Given the description of an element on the screen output the (x, y) to click on. 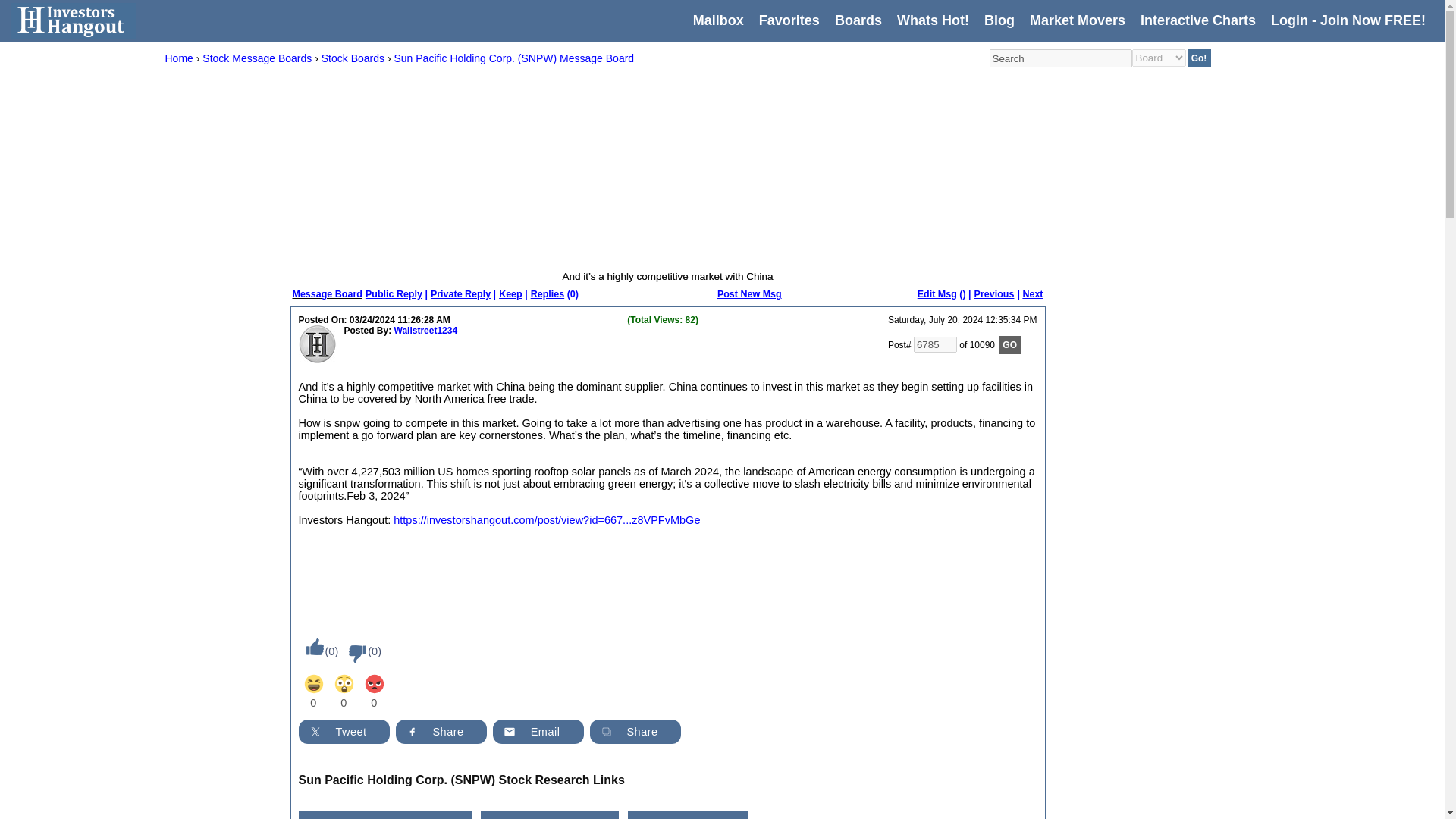
6785 (935, 344)
Home (179, 58)
Favorites (788, 20)
Stock Message Boards (256, 58)
Post New Msg (749, 294)
Market Movers (1077, 20)
Search (1059, 58)
GO (1009, 344)
Go! (1199, 57)
Message Board (327, 294)
Mailbox (718, 20)
Interactive Charts (1197, 20)
Dislike This Post (353, 653)
Like This Post (310, 646)
Go! (1199, 57)
